Given the description of an element on the screen output the (x, y) to click on. 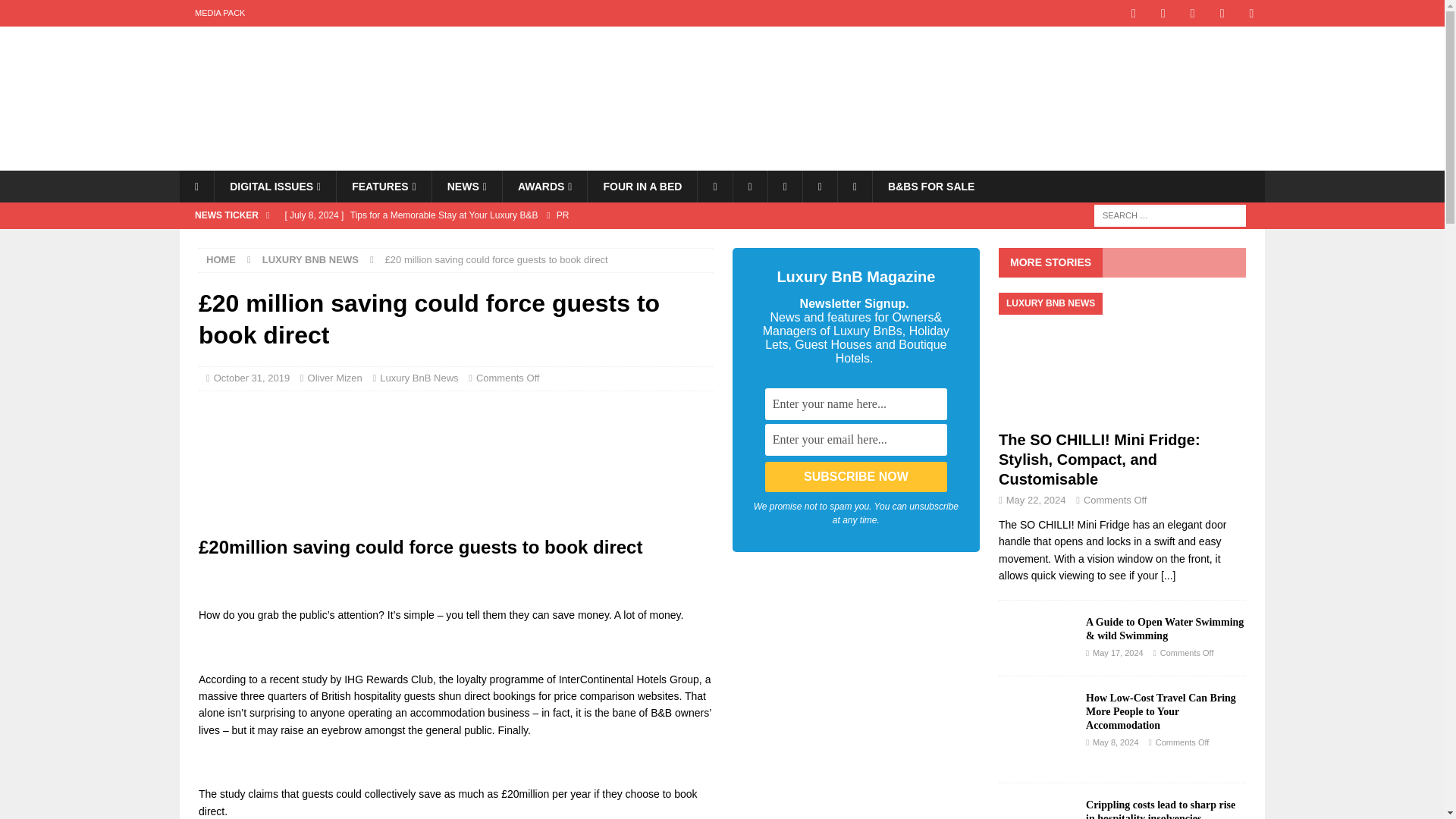
Facebook (714, 186)
MEDIA PACK (219, 13)
FEATURES (383, 186)
Luxury BnB Awards (545, 186)
DIGITAL ISSUES (275, 186)
Luxury BnB Magazine on LinkedIn (1252, 13)
Subscribe Now (856, 476)
Luxury BnB Magazine News (466, 186)
